Given the description of an element on the screen output the (x, y) to click on. 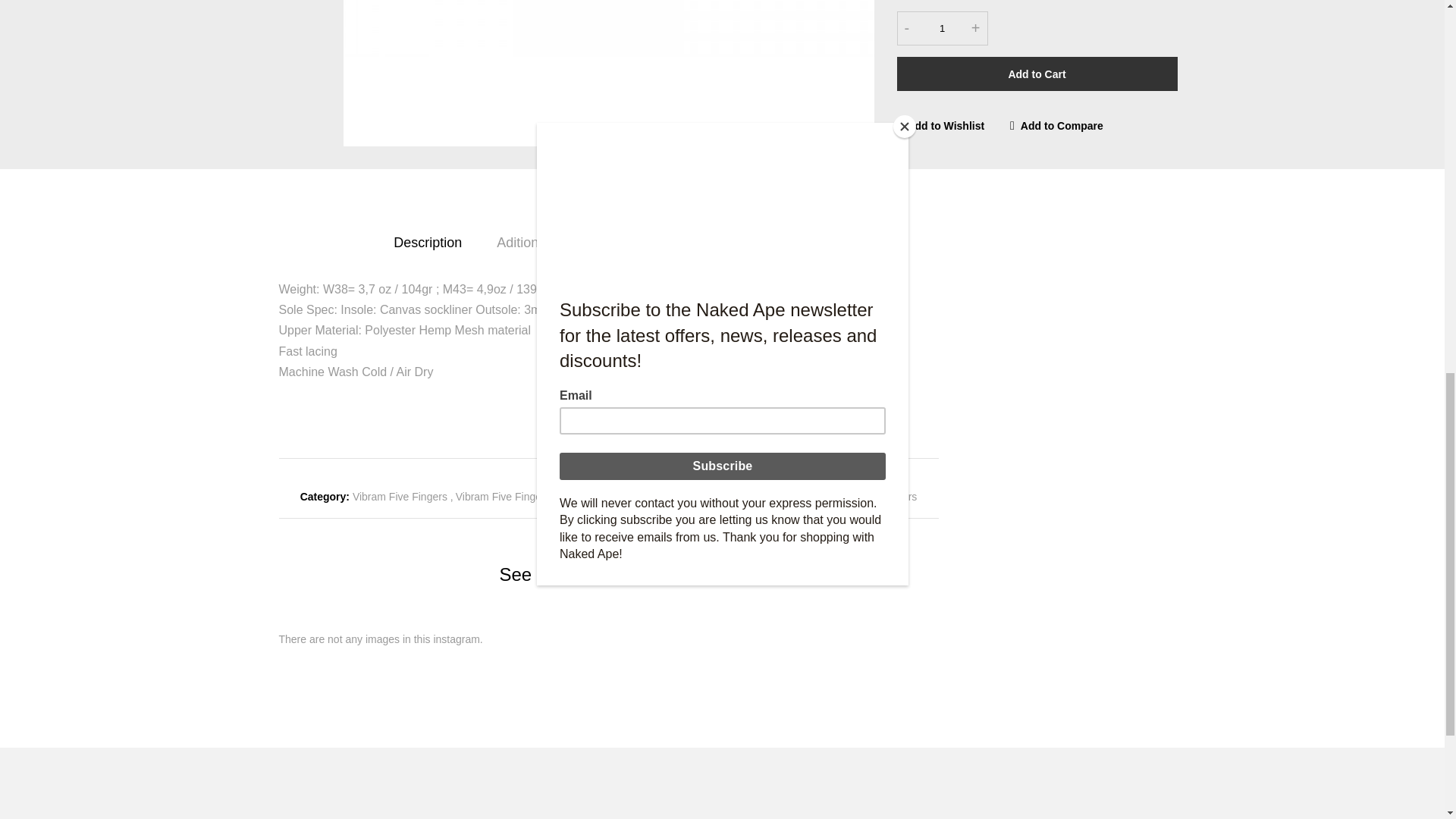
1 (942, 28)
